Given the description of an element on the screen output the (x, y) to click on. 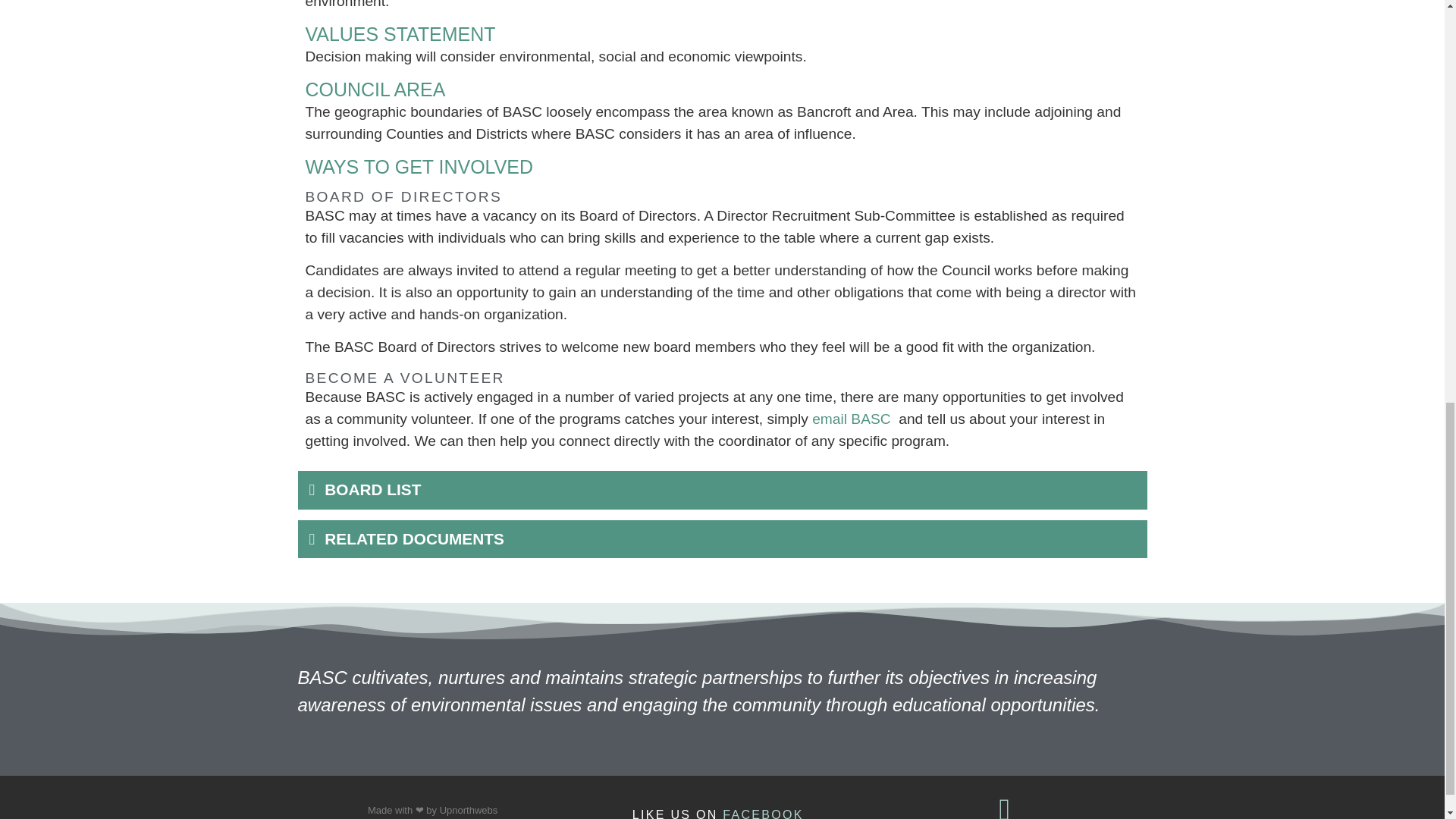
LIKE US ON FACEBOOK (718, 813)
email BASC  (853, 418)
RELATED DOCUMENTS (413, 538)
BOARD LIST (372, 488)
